Given the description of an element on the screen output the (x, y) to click on. 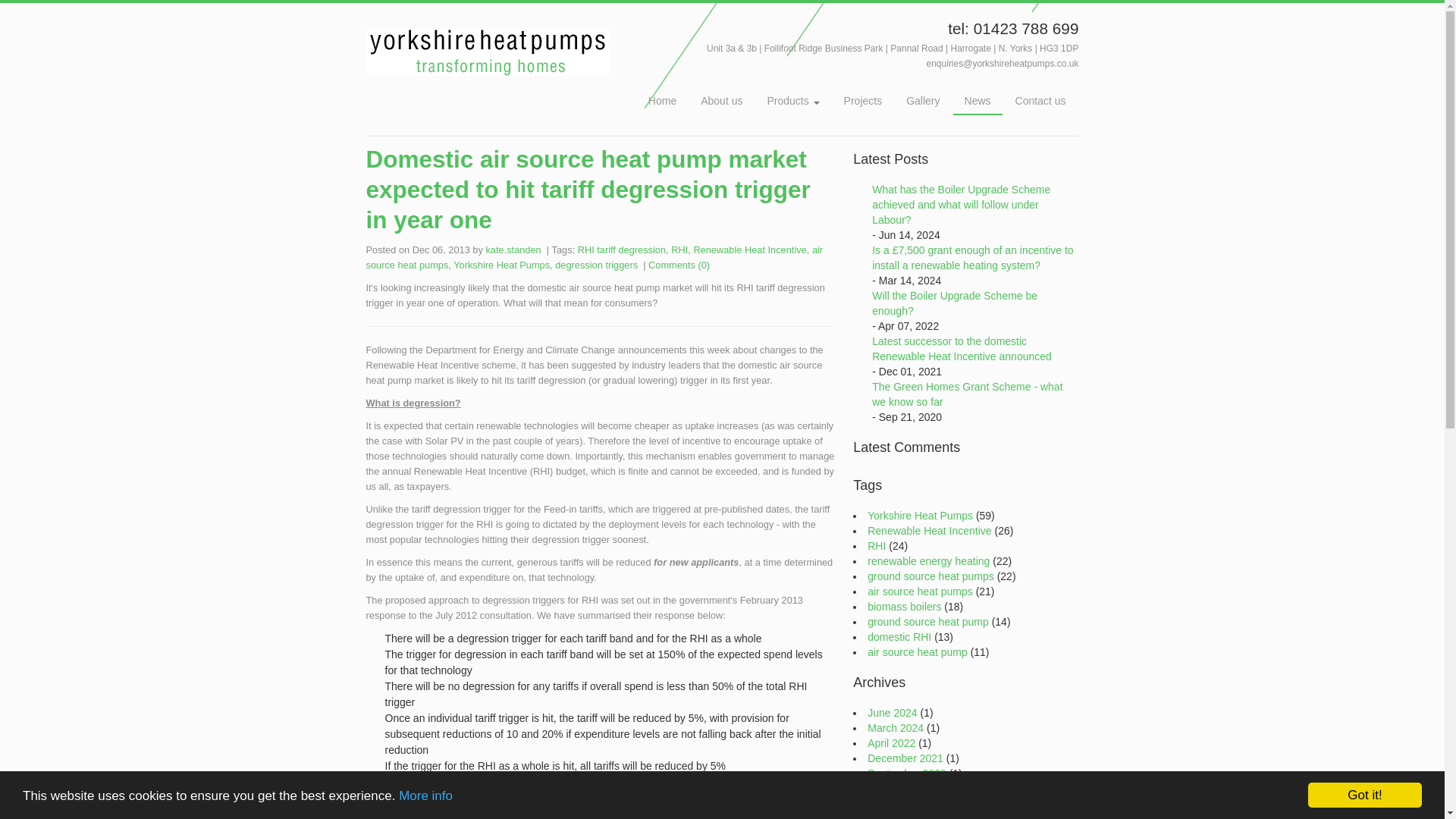
About us (721, 100)
Renewable Heat Incentive (749, 249)
News (978, 101)
Contact us (1040, 100)
Products (792, 100)
Projects (862, 100)
degression triggers (595, 265)
Home (662, 100)
RHI (679, 249)
Products (792, 100)
kate.standen (512, 249)
Yorkshire Heat Pumps (501, 265)
News (978, 101)
Projects (862, 100)
Home (662, 100)
